Given the description of an element on the screen output the (x, y) to click on. 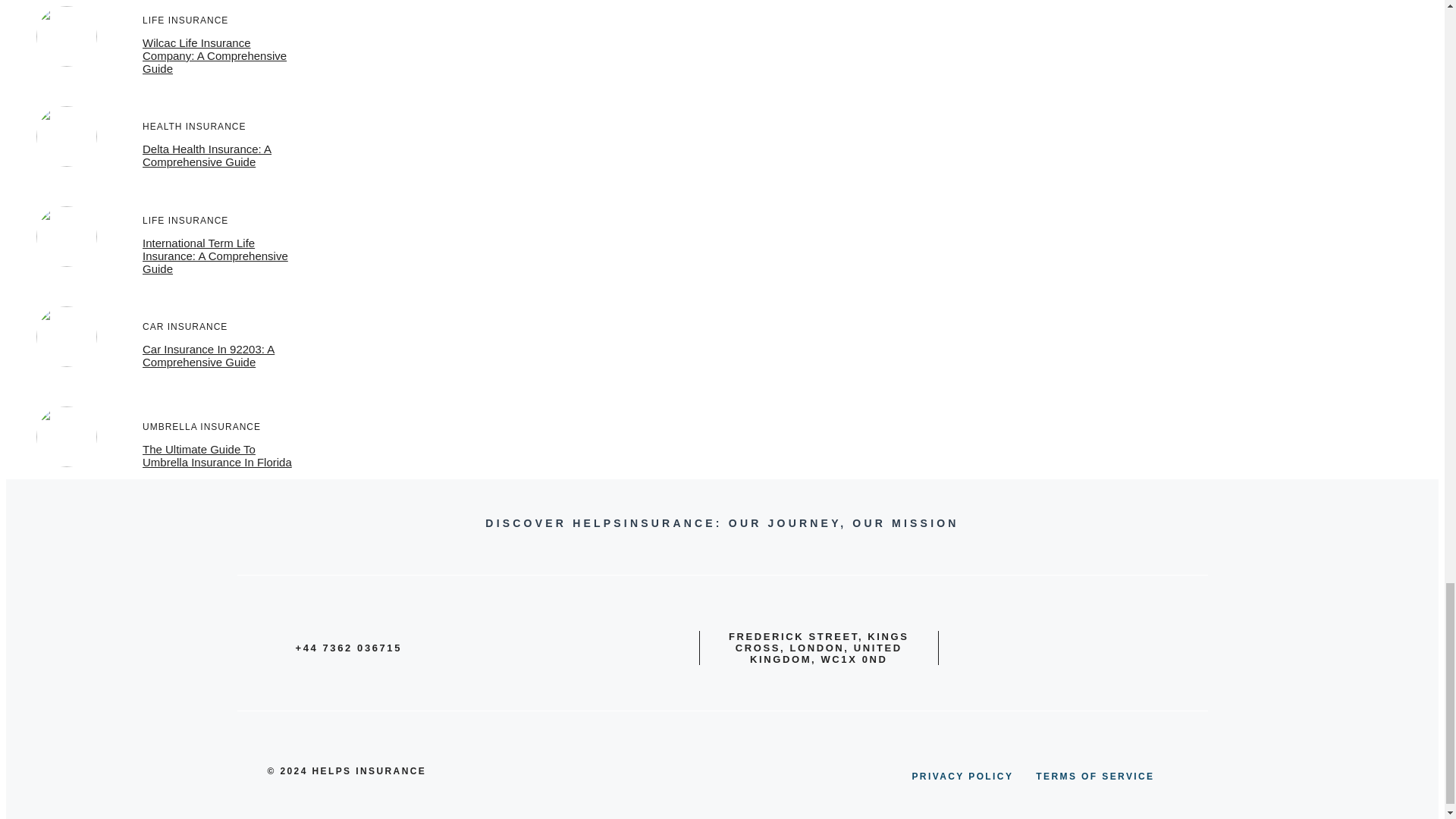
PRIVACY POLICY (962, 776)
International Term Life Insurance: A Comprehensive Guide (215, 255)
Wilcac Life Insurance Company: A Comprehensive Guide (214, 55)
TERMS OF SERVICE (1094, 776)
Delta Health Insurance: A Comprehensive Guide (206, 155)
The Ultimate Guide To Umbrella Insurance In Florida (217, 455)
Car Insurance In 92203: A Comprehensive Guide (208, 355)
